Given the description of an element on the screen output the (x, y) to click on. 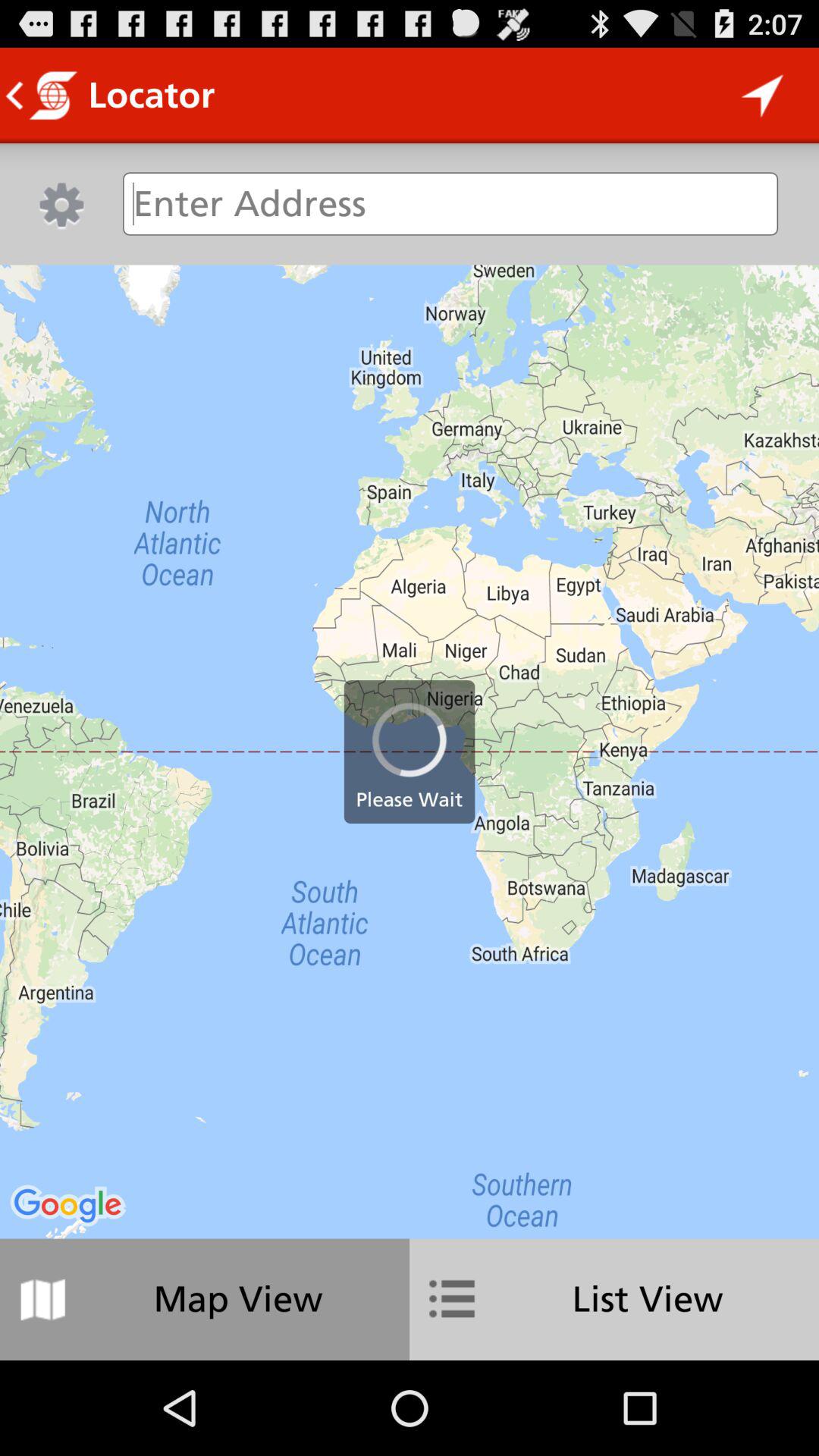
select list view icon (614, 1299)
